Given the description of an element on the screen output the (x, y) to click on. 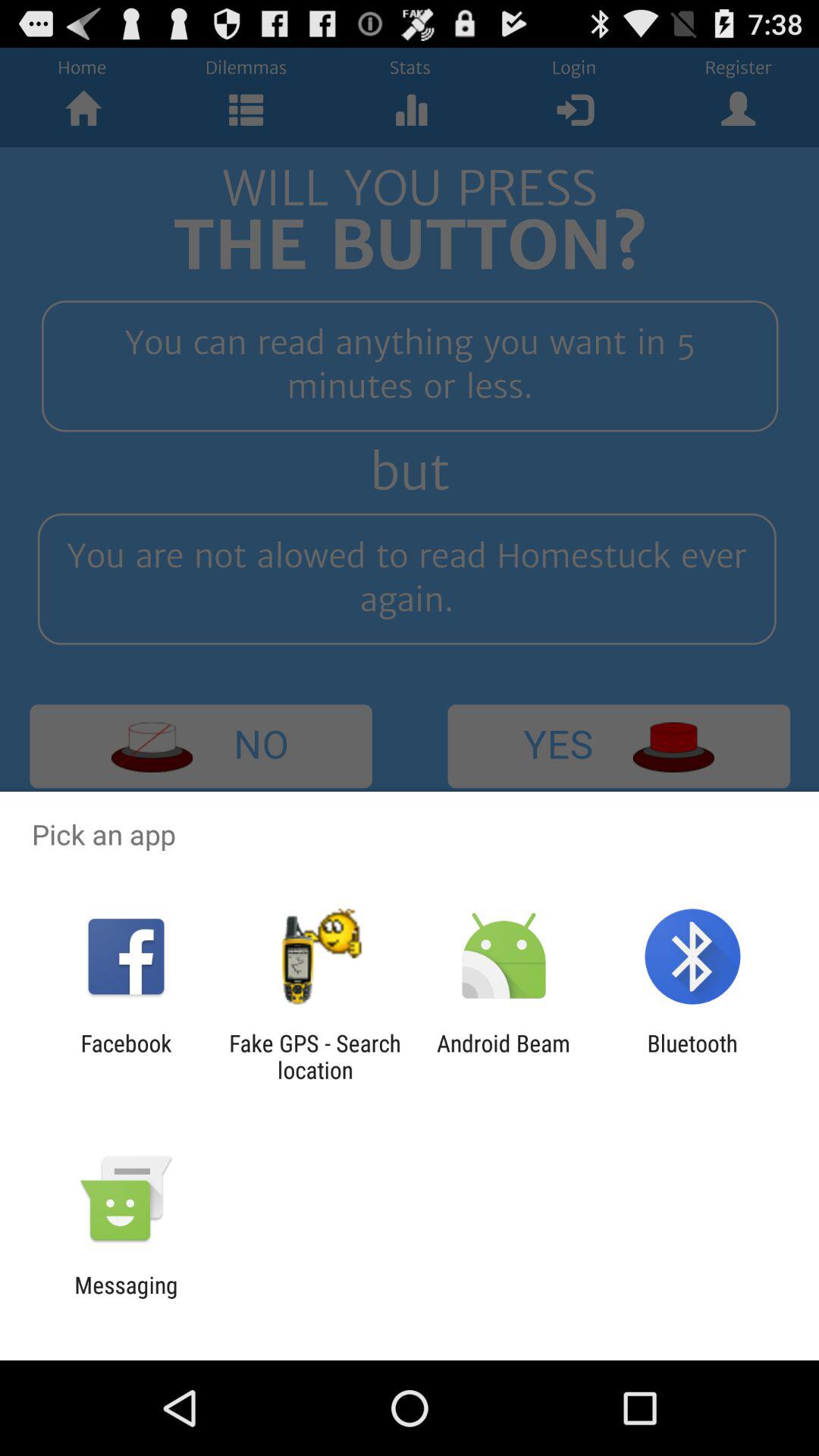
click the bluetooth at the bottom right corner (692, 1056)
